Given the description of an element on the screen output the (x, y) to click on. 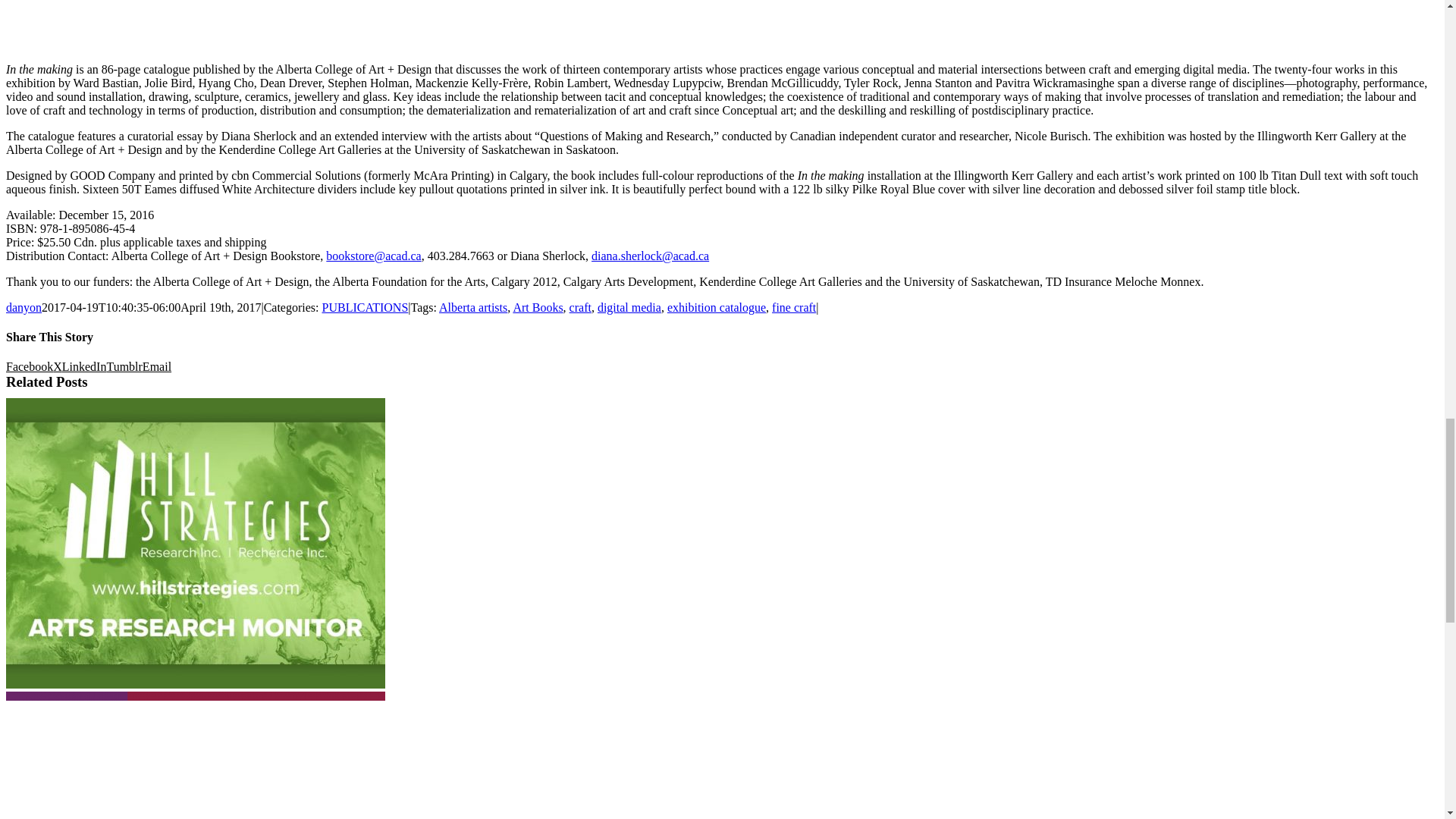
Facebook (28, 366)
Posts by danyon (23, 307)
LinkedIn (84, 366)
Email (156, 366)
Tumblr (123, 366)
